Given the description of an element on the screen output the (x, y) to click on. 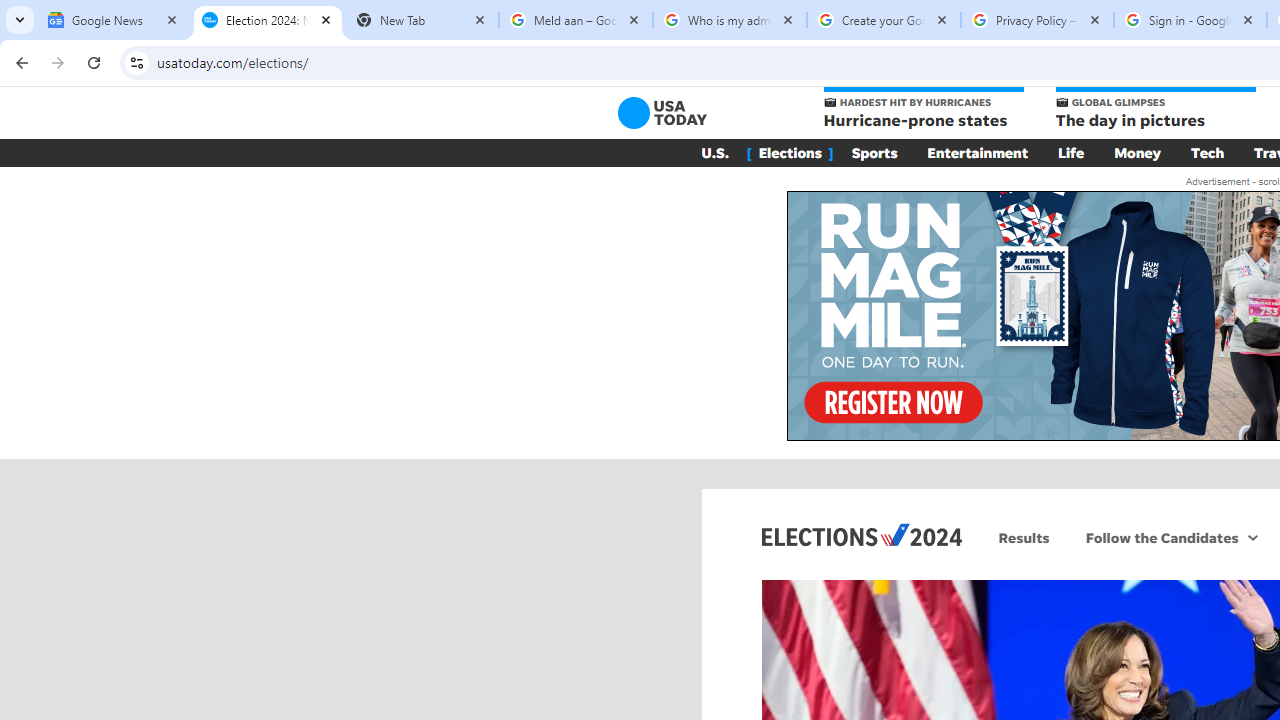
[ Elections ] (789, 152)
